Given the description of an element on the screen output the (x, y) to click on. 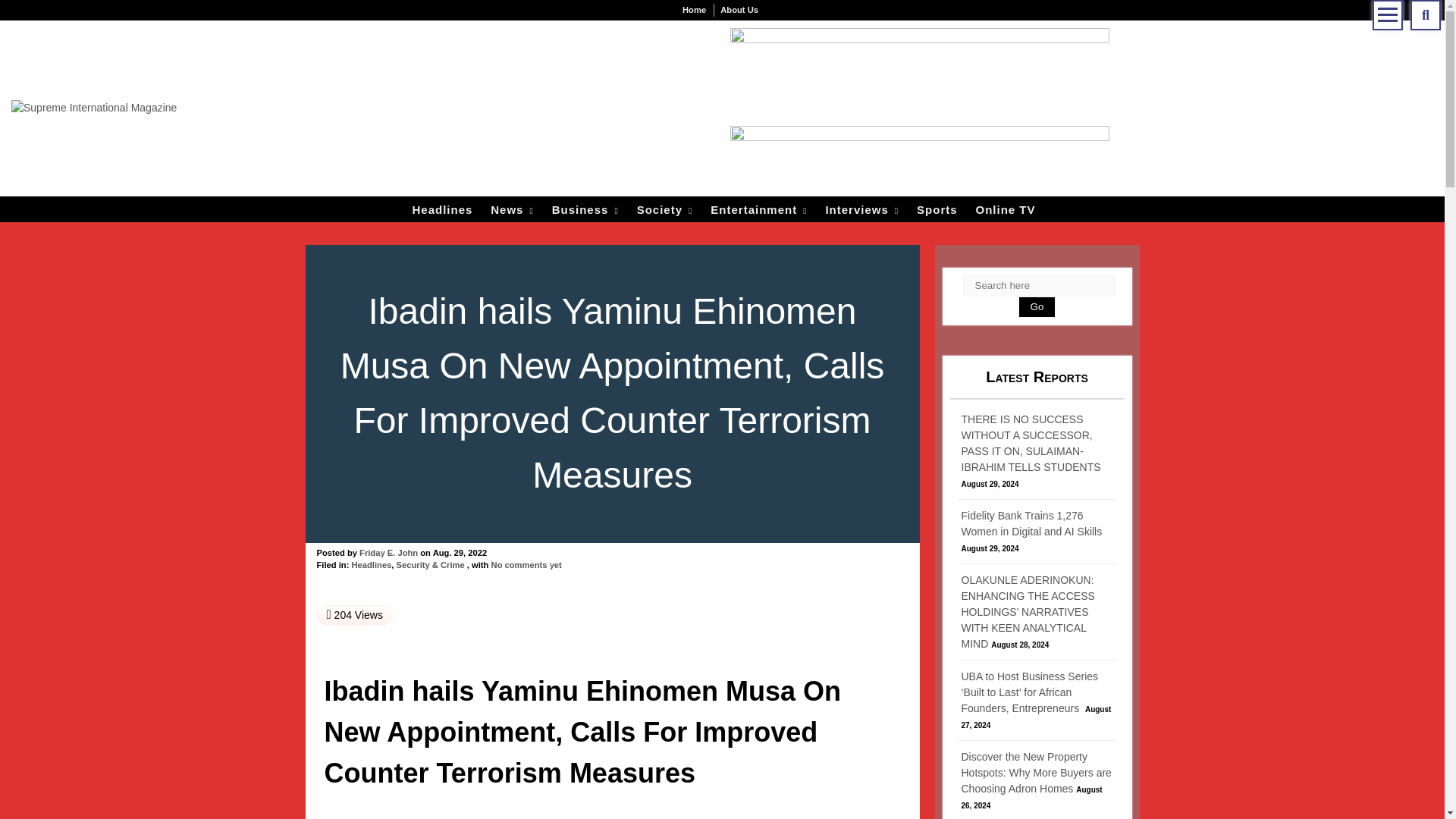
News (512, 210)
Go (1037, 306)
Search (1425, 15)
About Us (738, 10)
Home (694, 10)
Society (664, 210)
Go (1083, 435)
Business (585, 210)
More (1388, 15)
Headlines (442, 210)
